Given the description of an element on the screen output the (x, y) to click on. 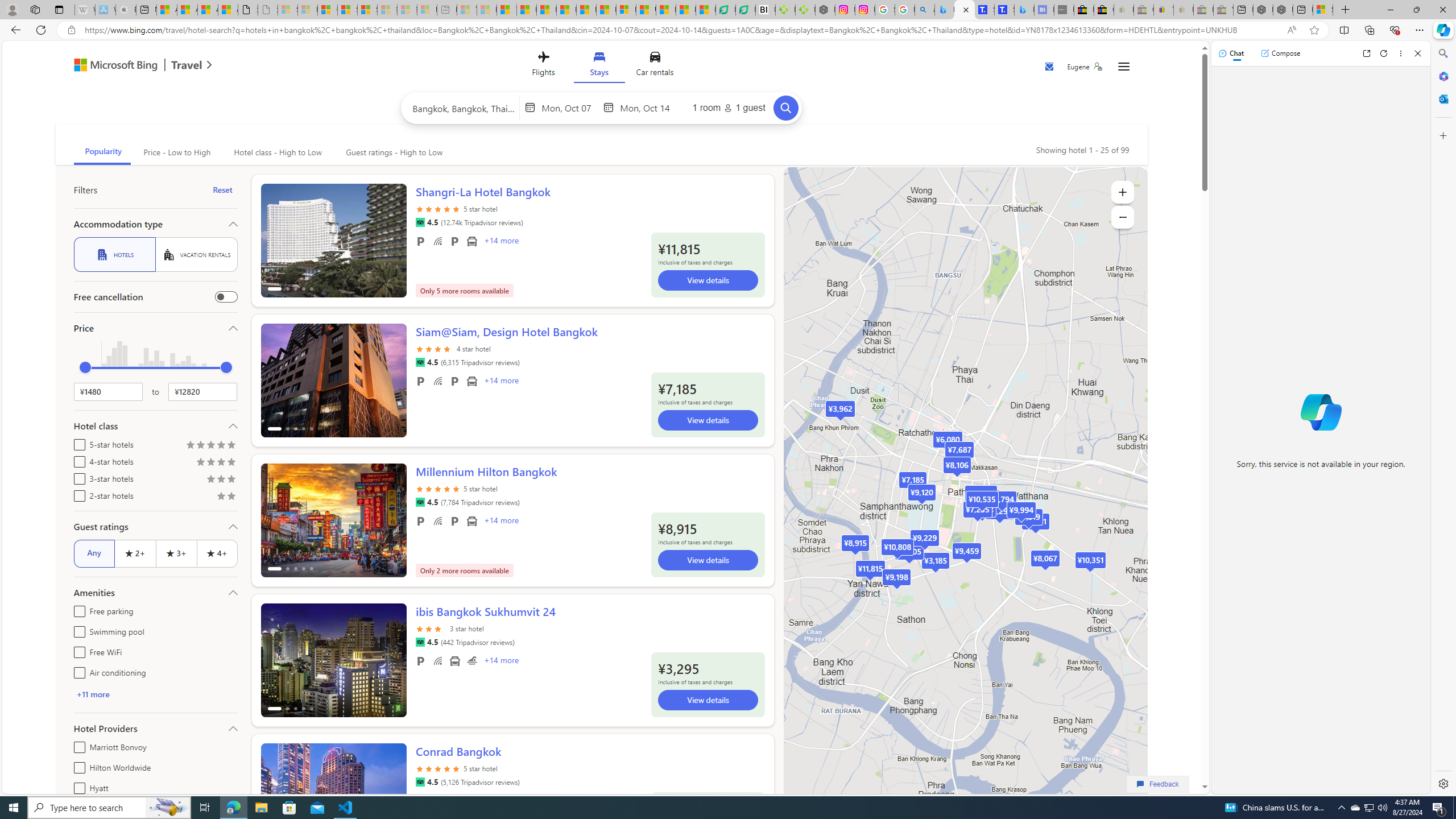
Guest ratings - High to Low (392, 152)
US Heat Deaths Soared To Record High Last Year (646, 9)
Microsoft Bing Travel (130, 65)
Free cancellation (225, 296)
ScrollLeft (273, 795)
Class: trvl-hub-header (601, 65)
2-star hotels (76, 493)
Zoom out (1122, 216)
Threats and offensive language policy | eBay (1162, 9)
alabama high school quarterback dies - Search (924, 9)
Side bar (1443, 418)
